Given the description of an element on the screen output the (x, y) to click on. 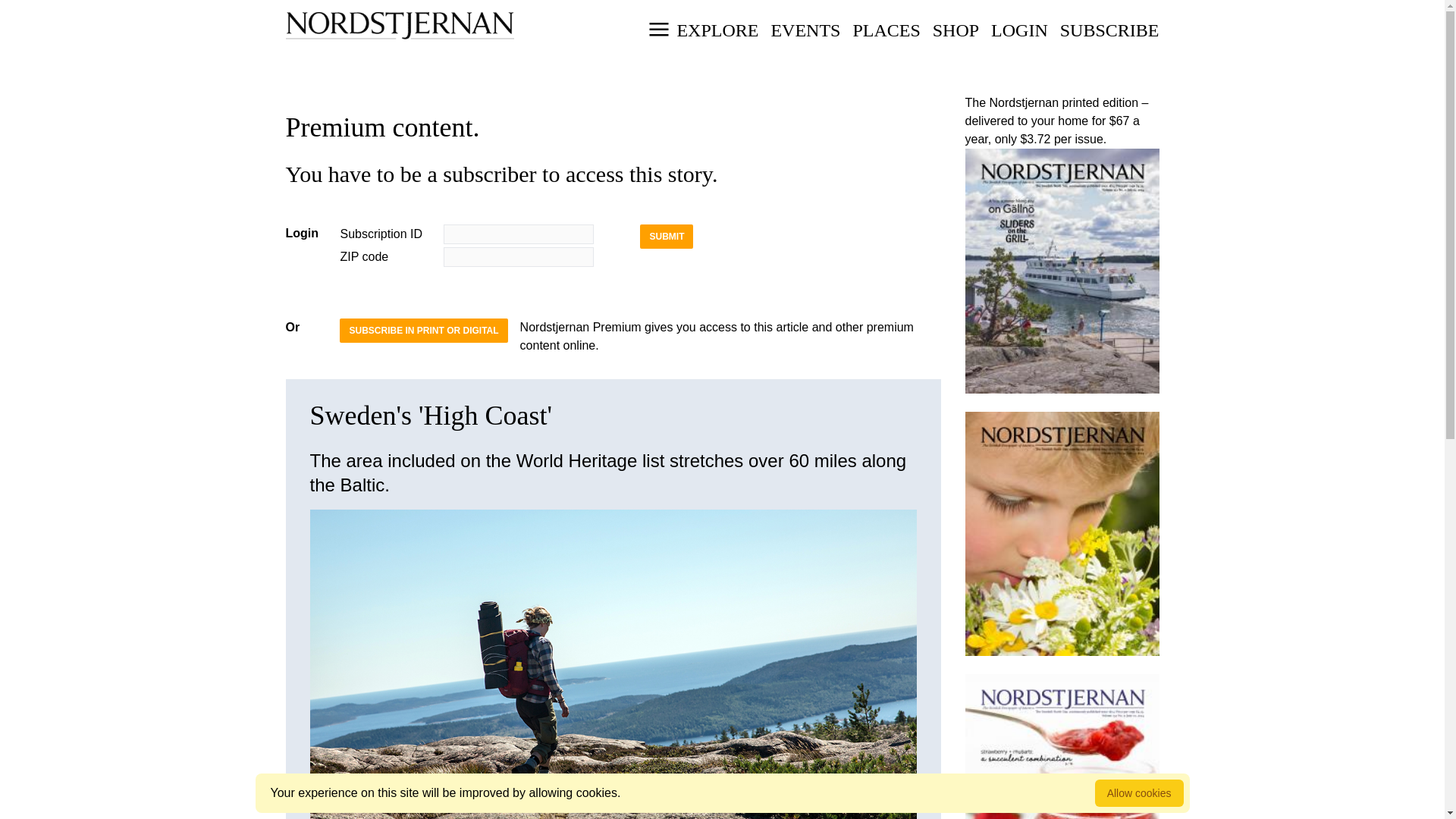
SUBMIT (666, 236)
Allow cookies (1138, 792)
SHOP (955, 30)
EVENTS (721, 42)
LOGIN (805, 30)
PLACES (1019, 30)
SUBSCRIBE (885, 30)
SUBSCRIBE IN PRINT OR DIGITAL (1108, 30)
